Given the description of an element on the screen output the (x, y) to click on. 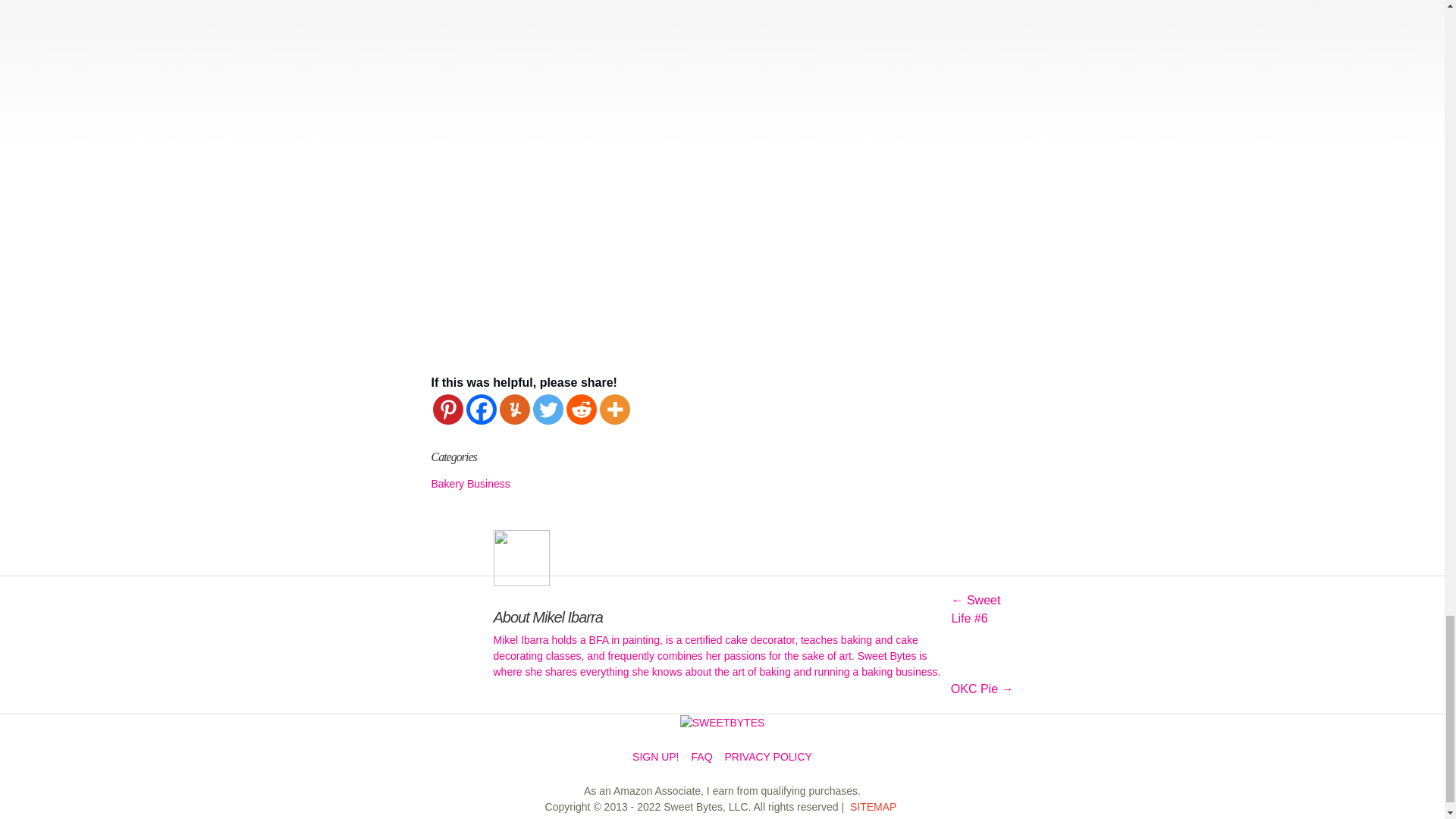
FAQ (702, 756)
SIGN UP! (654, 756)
Pinterest (447, 409)
Facebook (480, 409)
Reddit (580, 409)
Twitter (547, 409)
Bakery Business (469, 483)
Yummly (514, 409)
PRIVACY POLICY (768, 756)
More (613, 409)
